Given the description of an element on the screen output the (x, y) to click on. 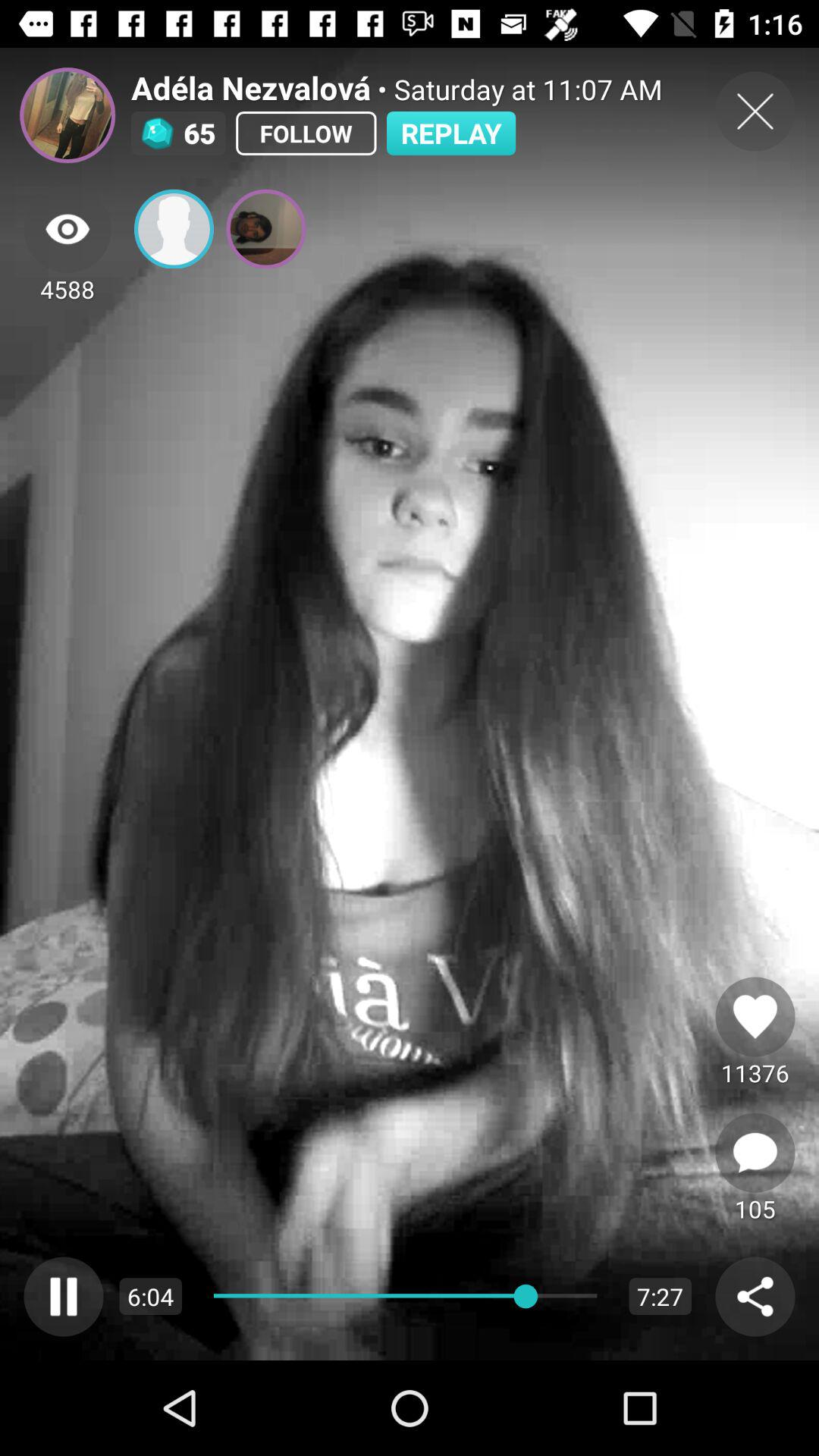
this button add image install (173, 229)
